Given the description of an element on the screen output the (x, y) to click on. 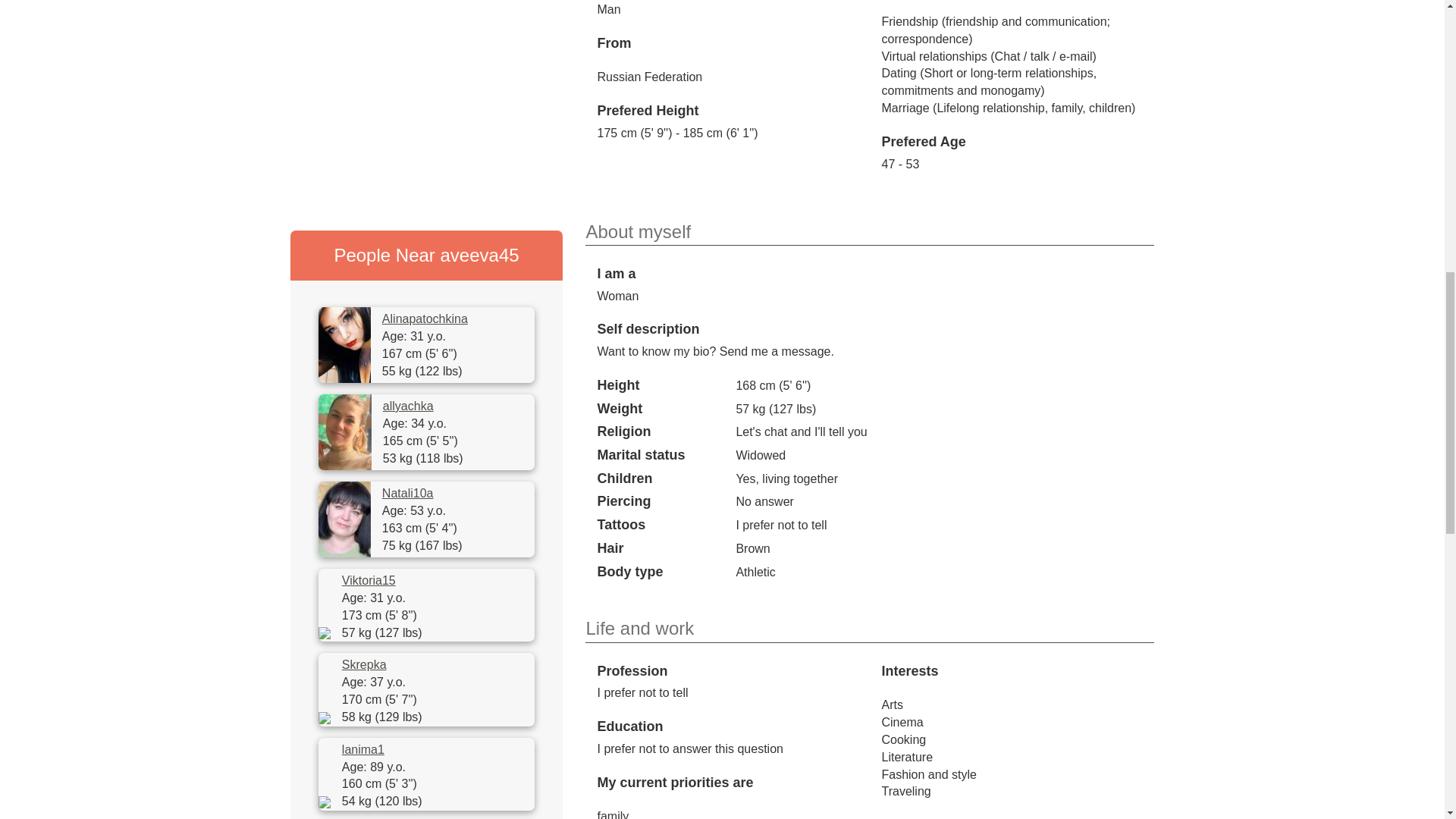
allyachka (407, 406)
Alinapatochkina (424, 319)
